Given the description of an element on the screen output the (x, y) to click on. 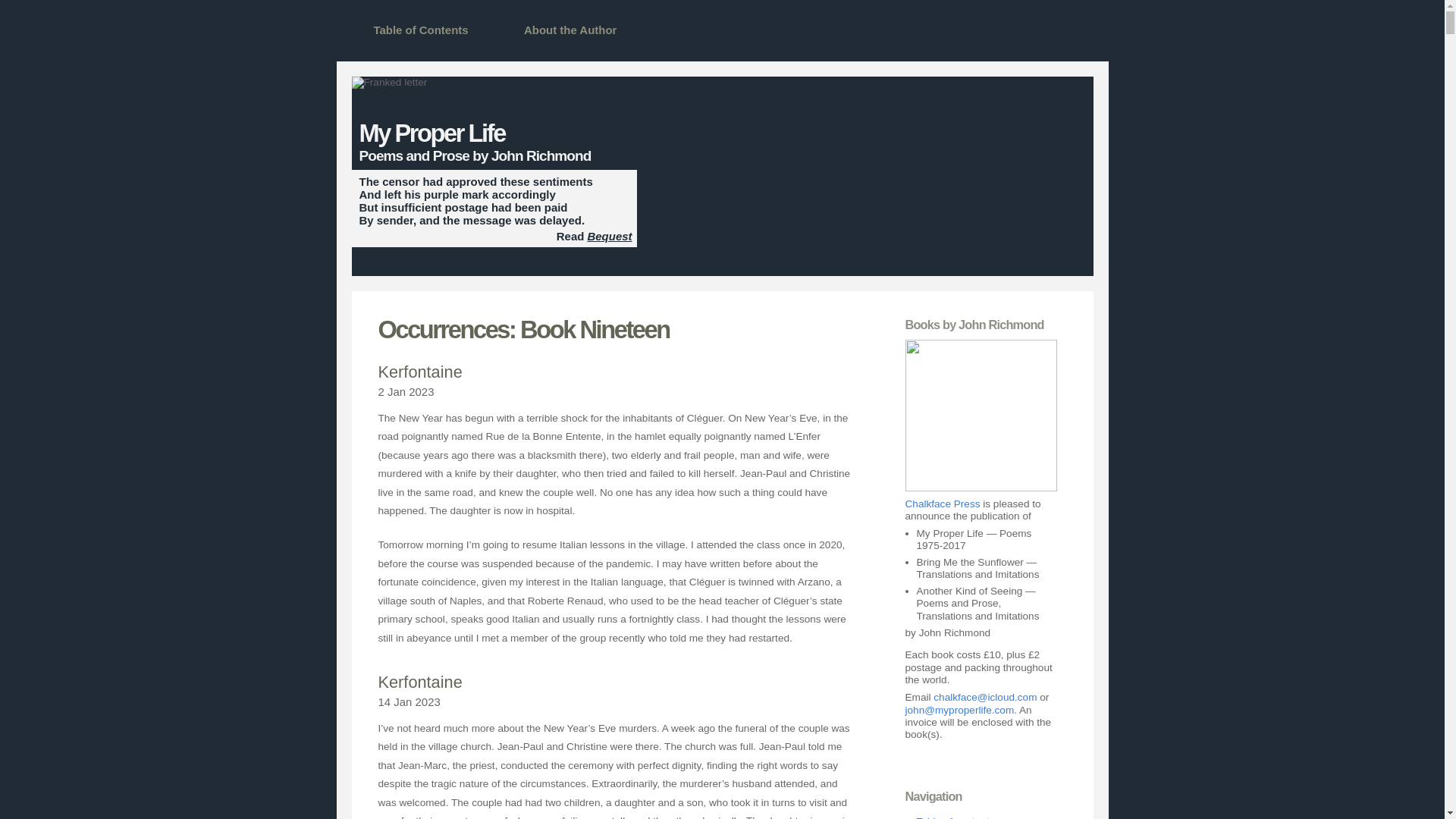
Chalkface Press (942, 503)
Table of contents (954, 817)
My Proper Life (432, 132)
About the Author (569, 30)
Bequest (608, 236)
Table of Contents (420, 30)
